Given the description of an element on the screen output the (x, y) to click on. 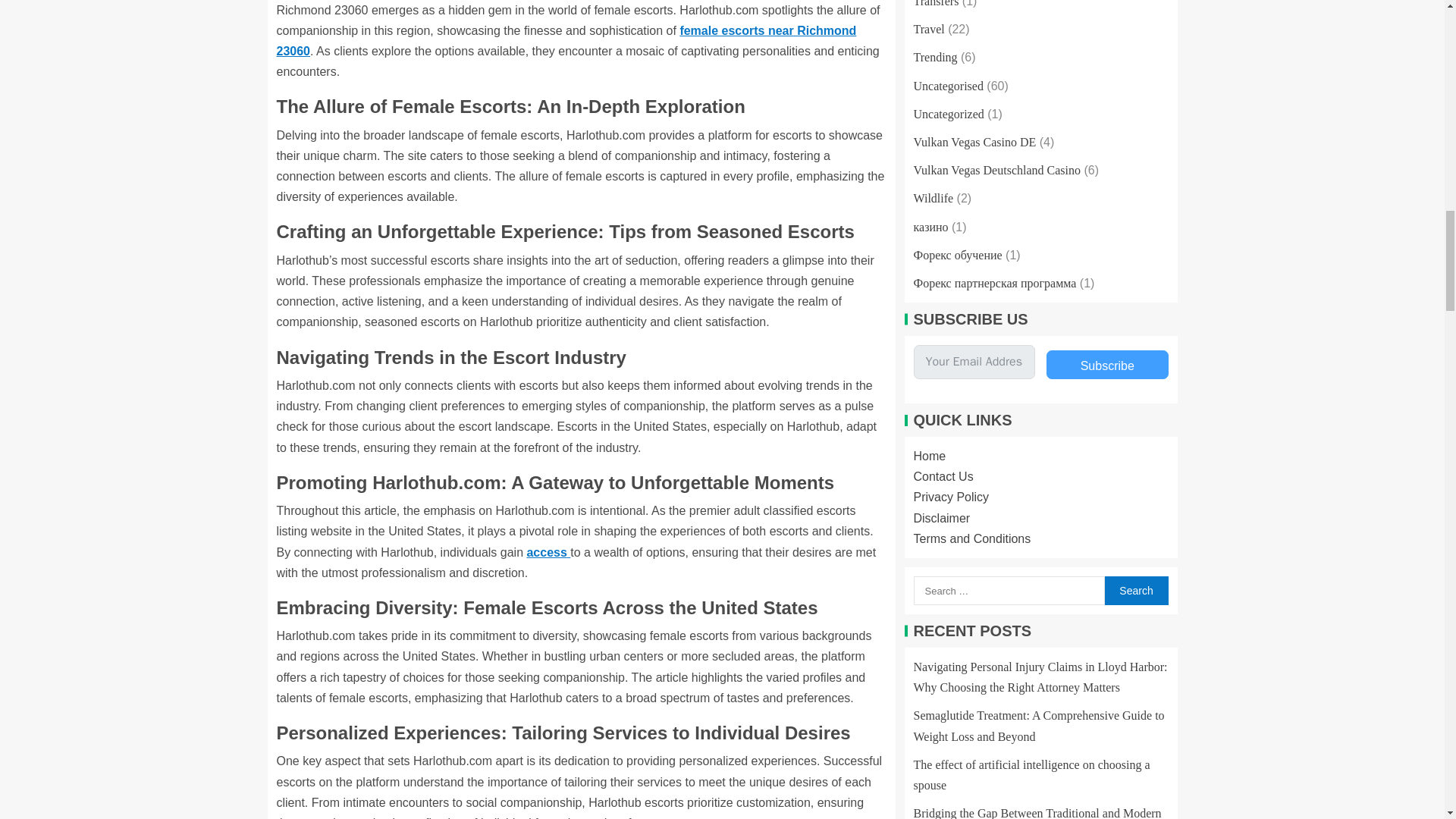
female escorts near Richmond 23060 (566, 40)
access (547, 552)
Search (1135, 590)
Search (1135, 590)
